Given the description of an element on the screen output the (x, y) to click on. 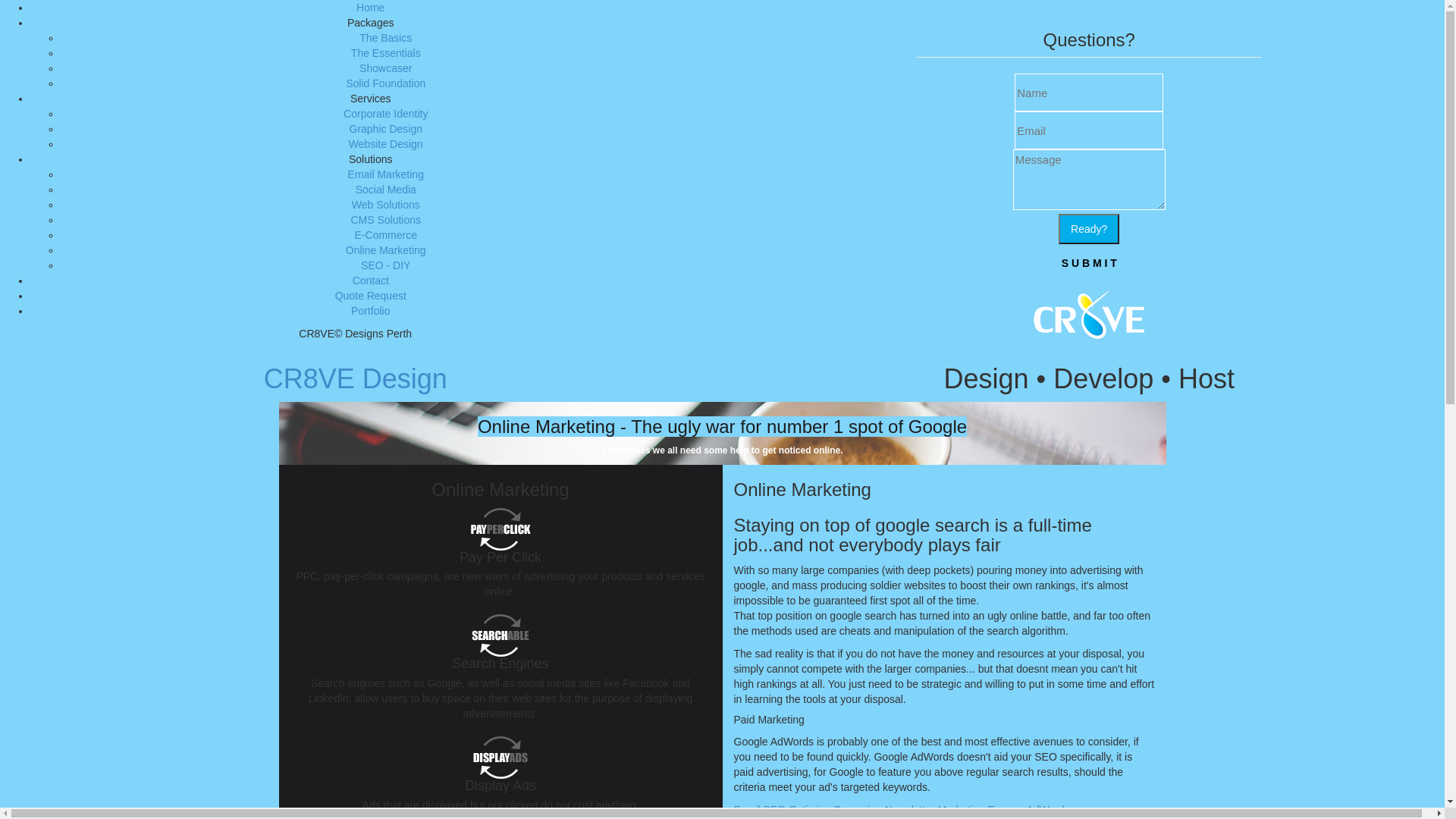
CR8VE Design Element type: text (355, 378)
Portfolio Element type: text (370, 310)
Optimise Element type: text (810, 809)
Marketing Element type: text (962, 809)
The Basics Element type: text (385, 37)
Corporate Identity Element type: text (385, 113)
Contact Element type: text (370, 280)
Engage Element type: text (1006, 809)
The Essentials Element type: text (385, 53)
Online Marketing Element type: text (385, 250)
Social Media Element type: text (385, 189)
CMS Solutions Element type: text (385, 219)
Graphic Design Element type: text (385, 128)
Email Element type: text (748, 809)
SEO - DIY Element type: text (385, 265)
AdWords Element type: text (1047, 809)
S U B M I T Element type: text (1088, 263)
Solid Foundation Element type: text (385, 83)
SEO Element type: text (774, 809)
Web Solutions Element type: text (385, 204)
Campaign Element type: text (858, 809)
Email Marketing Element type: text (385, 174)
E-Commerce Element type: text (385, 235)
Newsletter Element type: text (911, 809)
Website Design Element type: text (385, 144)
Home Element type: text (370, 7)
Showcaser Element type: text (385, 68)
Quote Request Element type: text (370, 295)
